Given the description of an element on the screen output the (x, y) to click on. 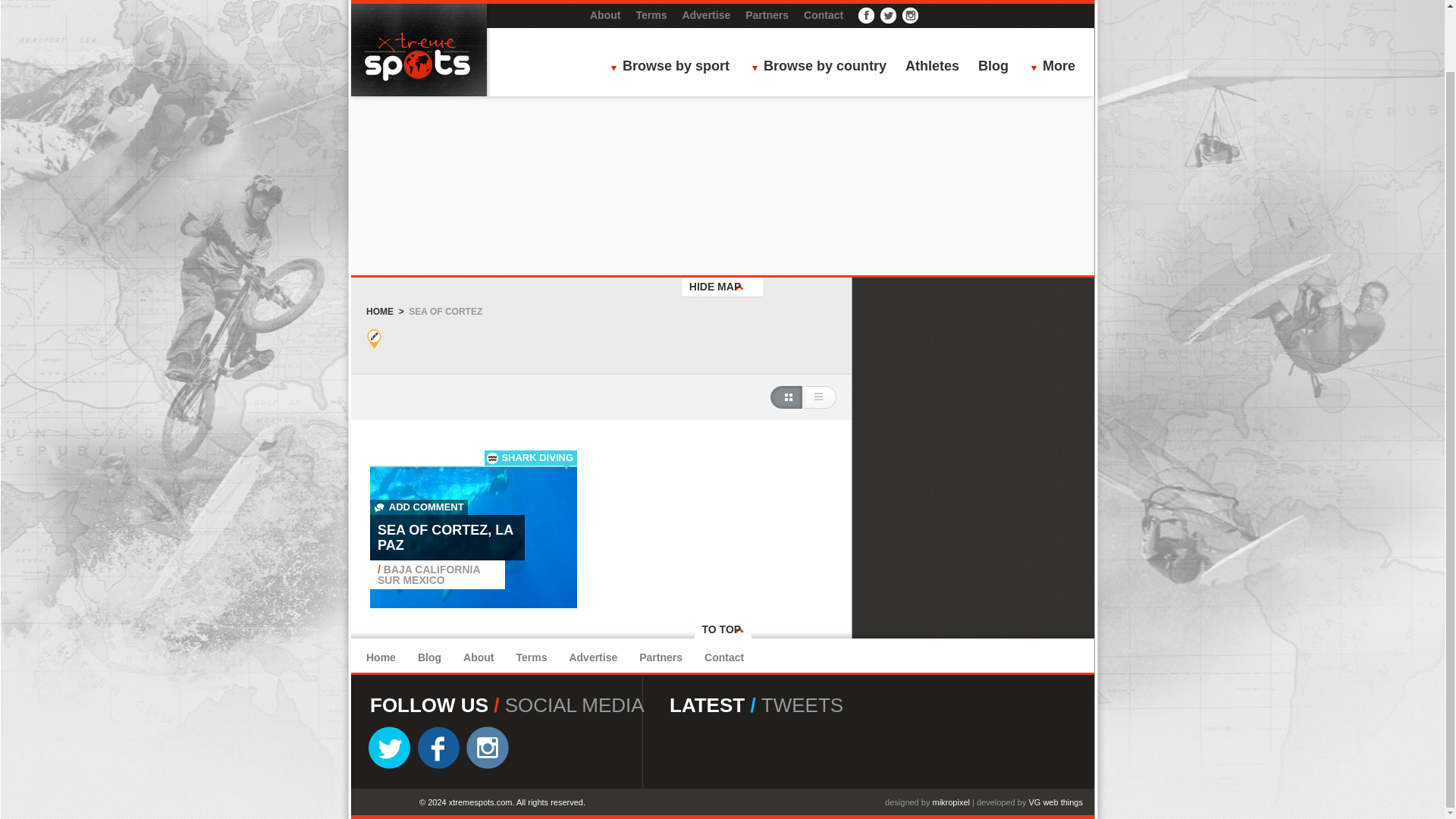
  ADD COMMENT (418, 506)
Blog (429, 657)
Browse by country (823, 8)
Blog (993, 8)
TO TOP (722, 631)
SEA OF CORTEZ, LA PAZ (445, 537)
About (478, 657)
SHARK DIVING (536, 457)
Athletes (932, 8)
Terms (531, 657)
